Given the description of an element on the screen output the (x, y) to click on. 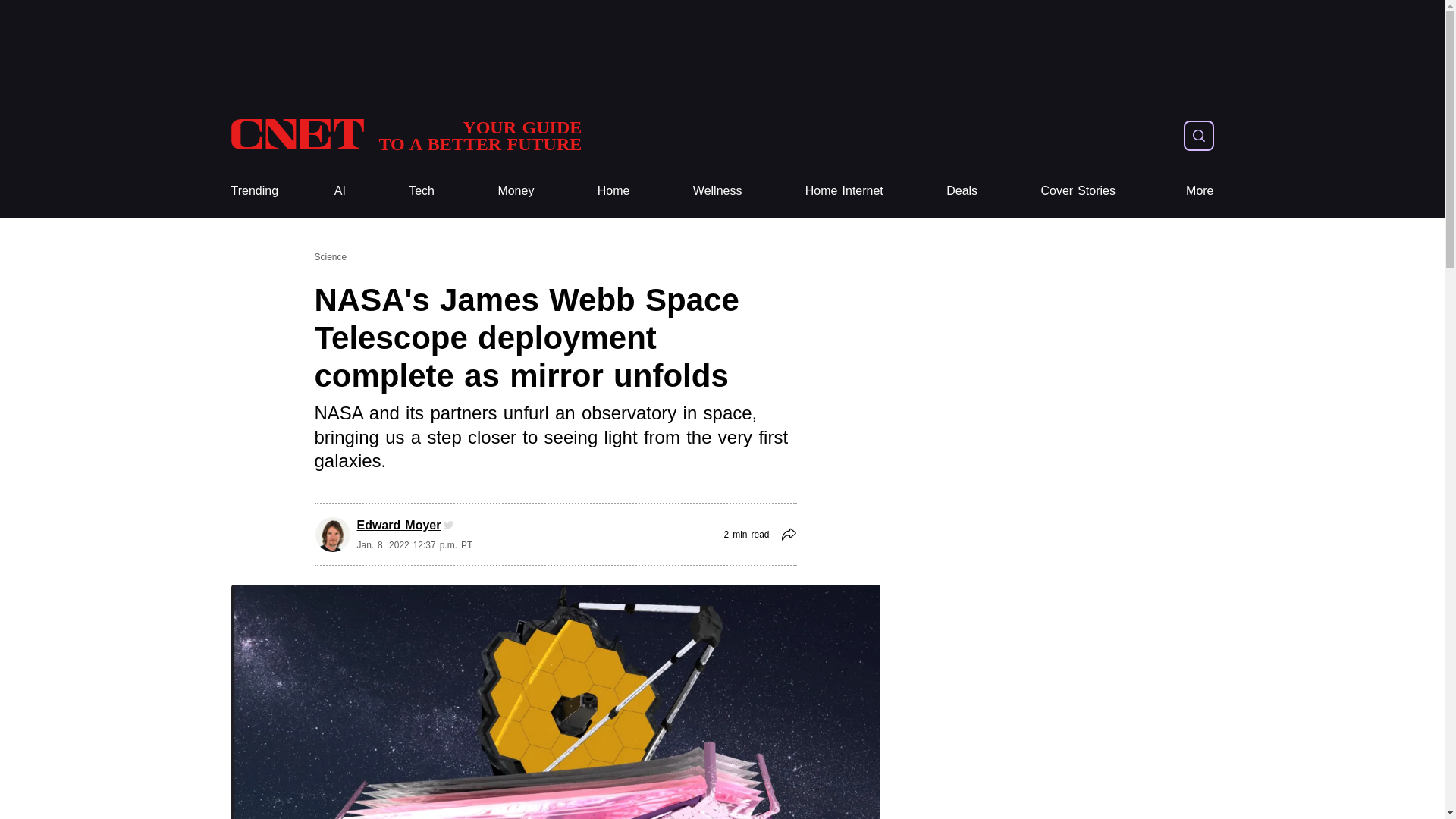
Deals (961, 190)
Cover Stories (1078, 190)
Tech (421, 190)
CNET (405, 135)
Money (515, 190)
Home Internet (844, 190)
Money (515, 190)
Tech (421, 190)
More (1199, 190)
Home (613, 190)
